Given the description of an element on the screen output the (x, y) to click on. 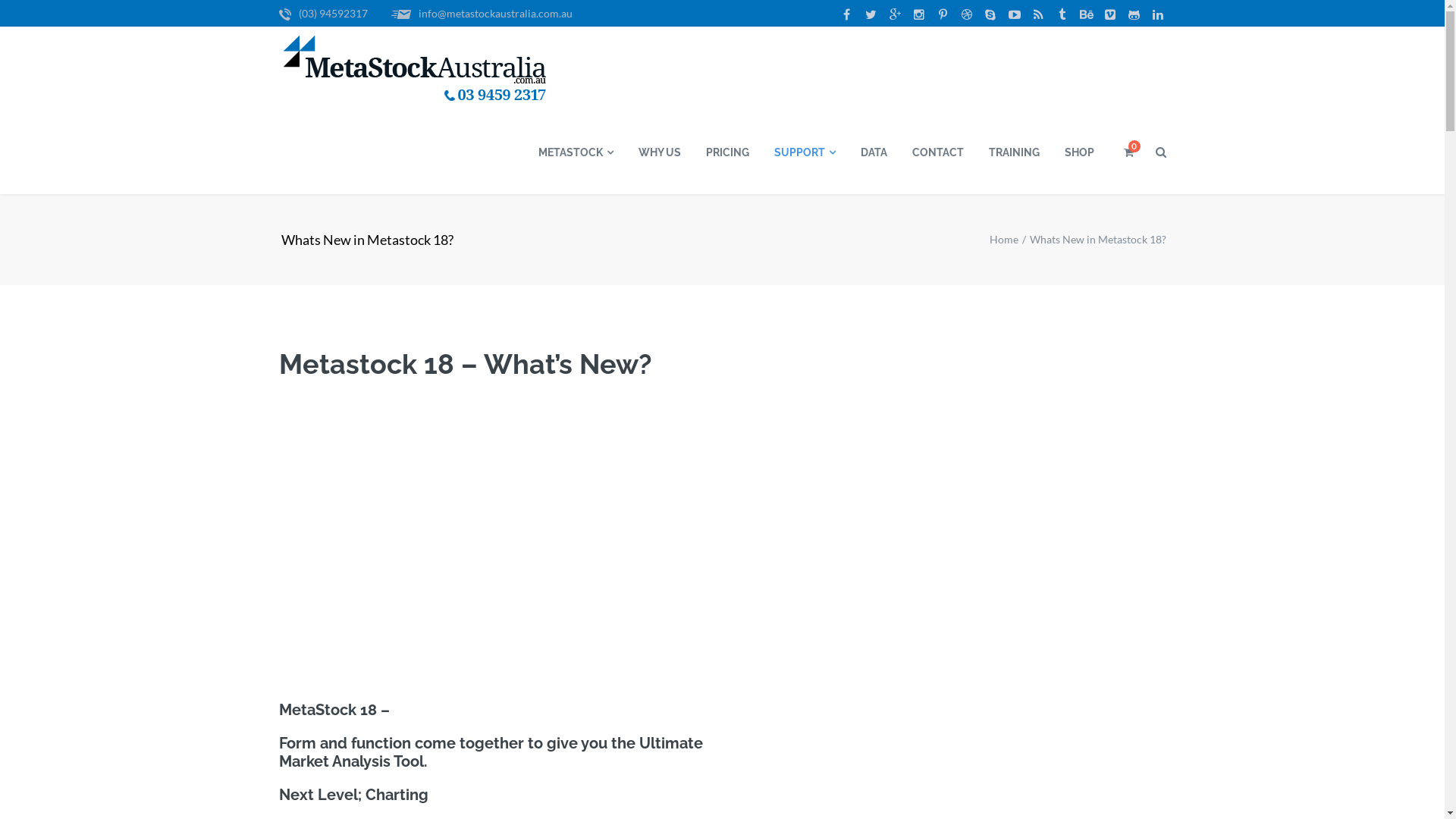
CONTACT Element type: text (937, 152)
PRICING Element type: text (727, 152)
Home Element type: text (1002, 238)
METASTOCK Element type: text (574, 152)
DATA Element type: text (873, 152)
What's New in MetaStock 18? Element type: hover (495, 516)
SHOP Element type: text (1078, 152)
WHY US Element type: text (658, 152)
0 Element type: text (1126, 152)
SUPPORT Element type: text (804, 152)
Logo Element type: hover (415, 68)
TRAINING Element type: text (1013, 152)
